Given the description of an element on the screen output the (x, y) to click on. 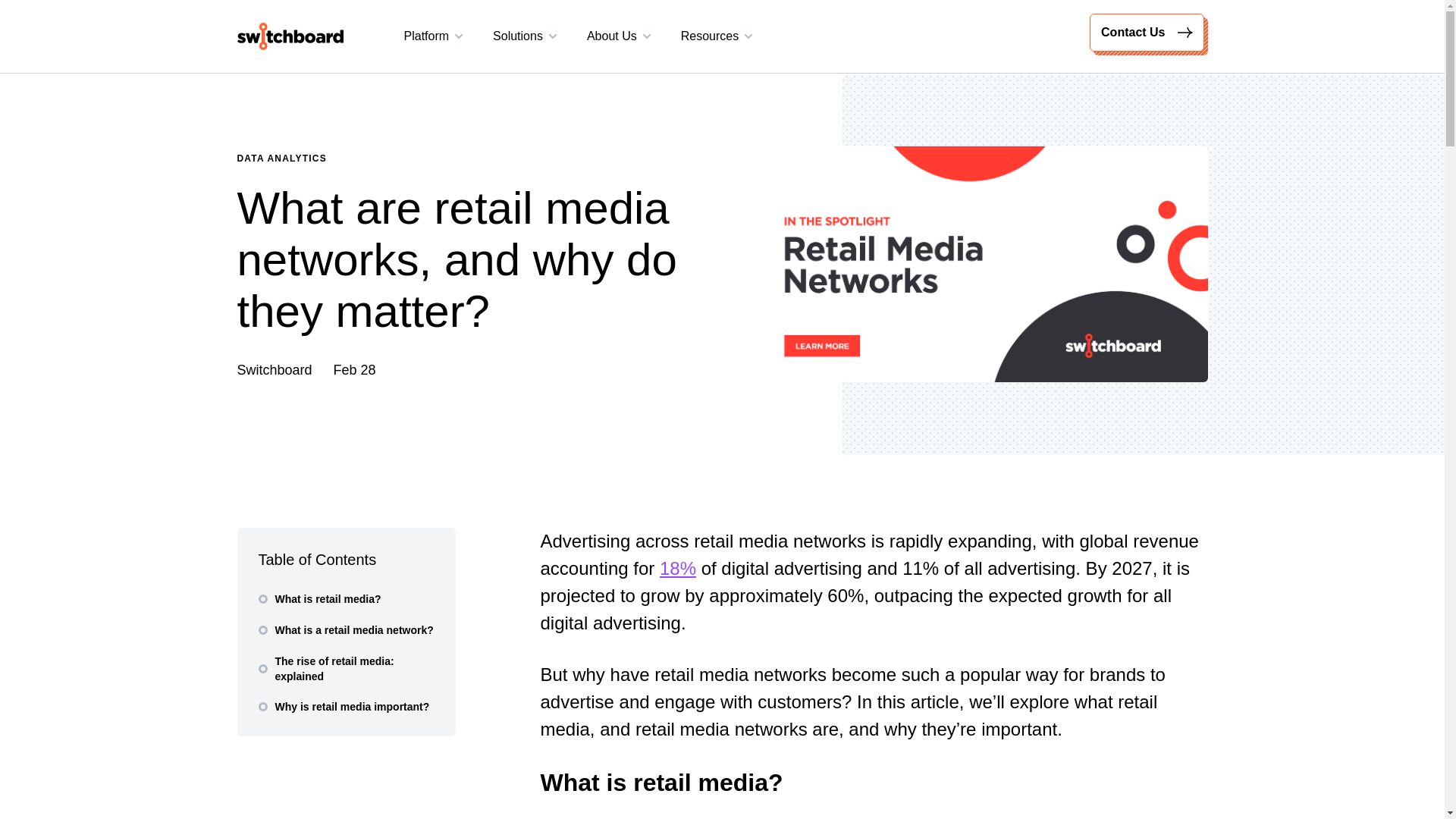
The rise of retail media: explained (345, 668)
What is a retail media network? (344, 630)
What is retail media? (318, 598)
Resources (716, 36)
The rise of retail media: explained (345, 668)
Why is retail media important? (343, 706)
Contact Us (1150, 36)
What is a retail media network? (344, 630)
Why is retail media important? (343, 706)
What is retail media? (318, 598)
